Given the description of an element on the screen output the (x, y) to click on. 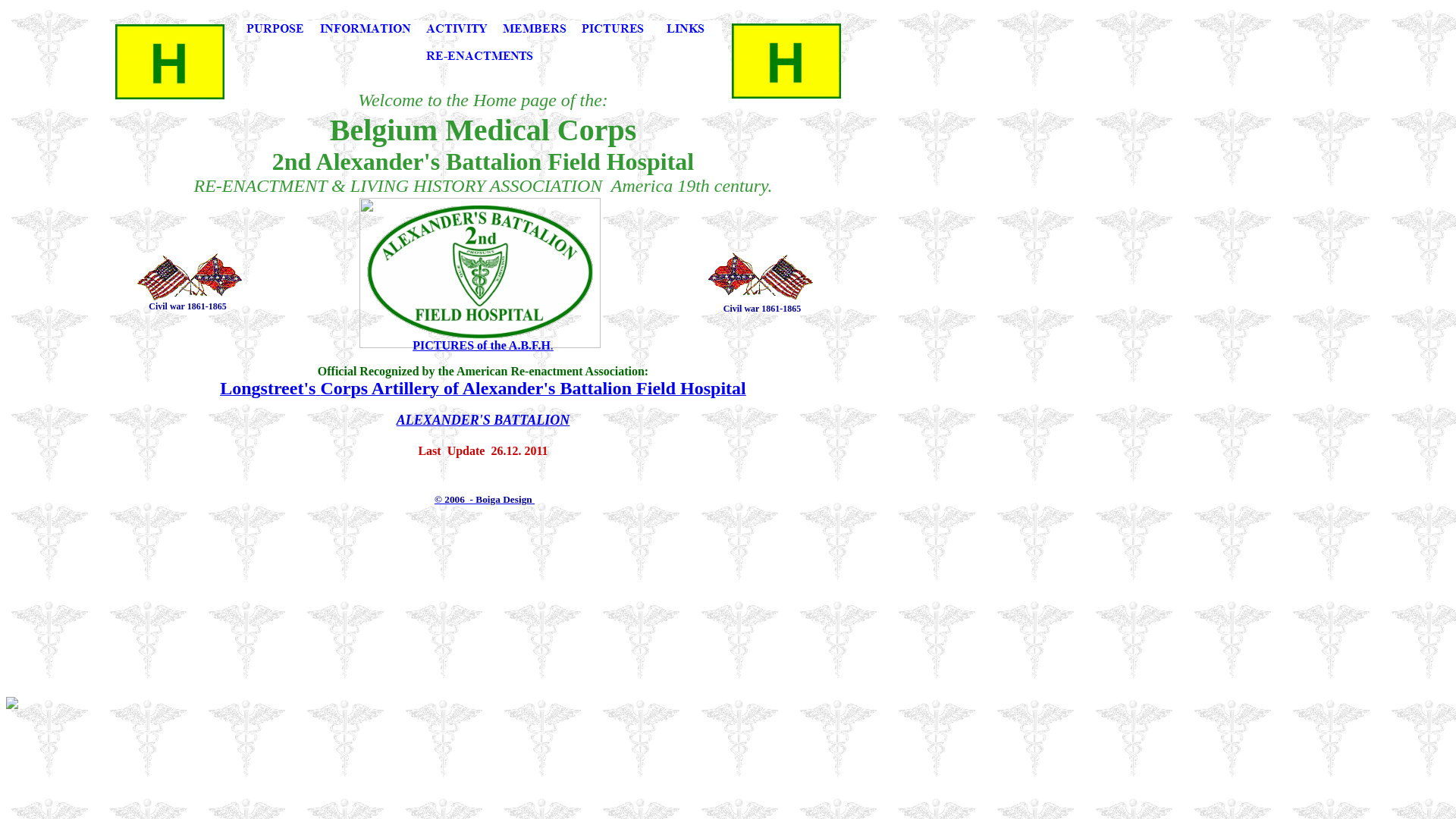
. Element type: text (551, 344)
PICTURES of the A.B.F.H Element type: text (481, 344)
  Element type: text (533, 499)
ALEXANDER'S BATTALION Element type: text (483, 419)
Doelstelling Element type: hover (274, 31)
